Given the description of an element on the screen output the (x, y) to click on. 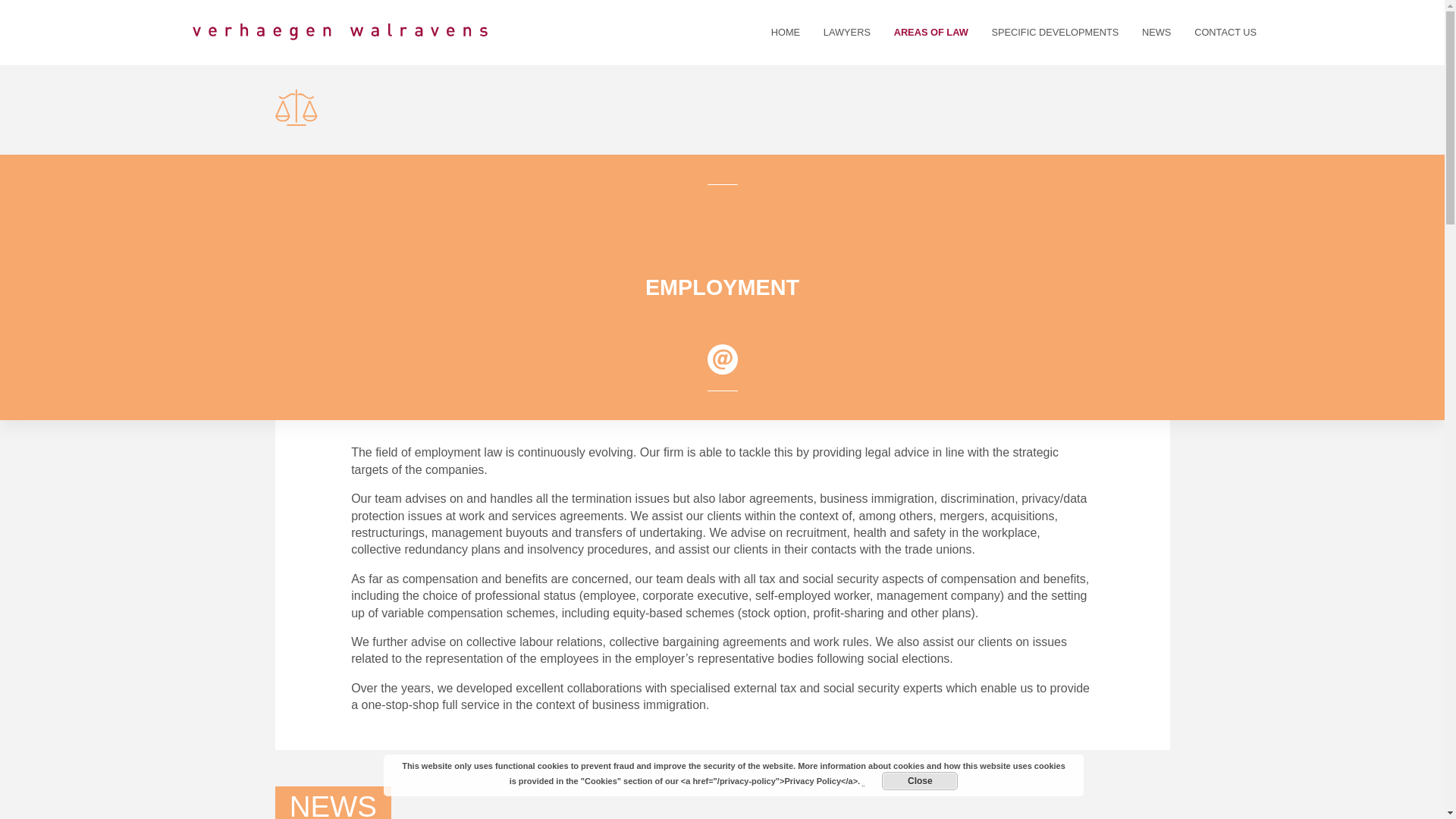
picto balance (296, 107)
Close (920, 781)
SPECIFIC DEVELOPMENTS (1055, 32)
AREAS OF LAW (930, 32)
LAWYERS (846, 32)
CONTACT US (1225, 32)
Verhaegen Walravens (339, 32)
